Given the description of an element on the screen output the (x, y) to click on. 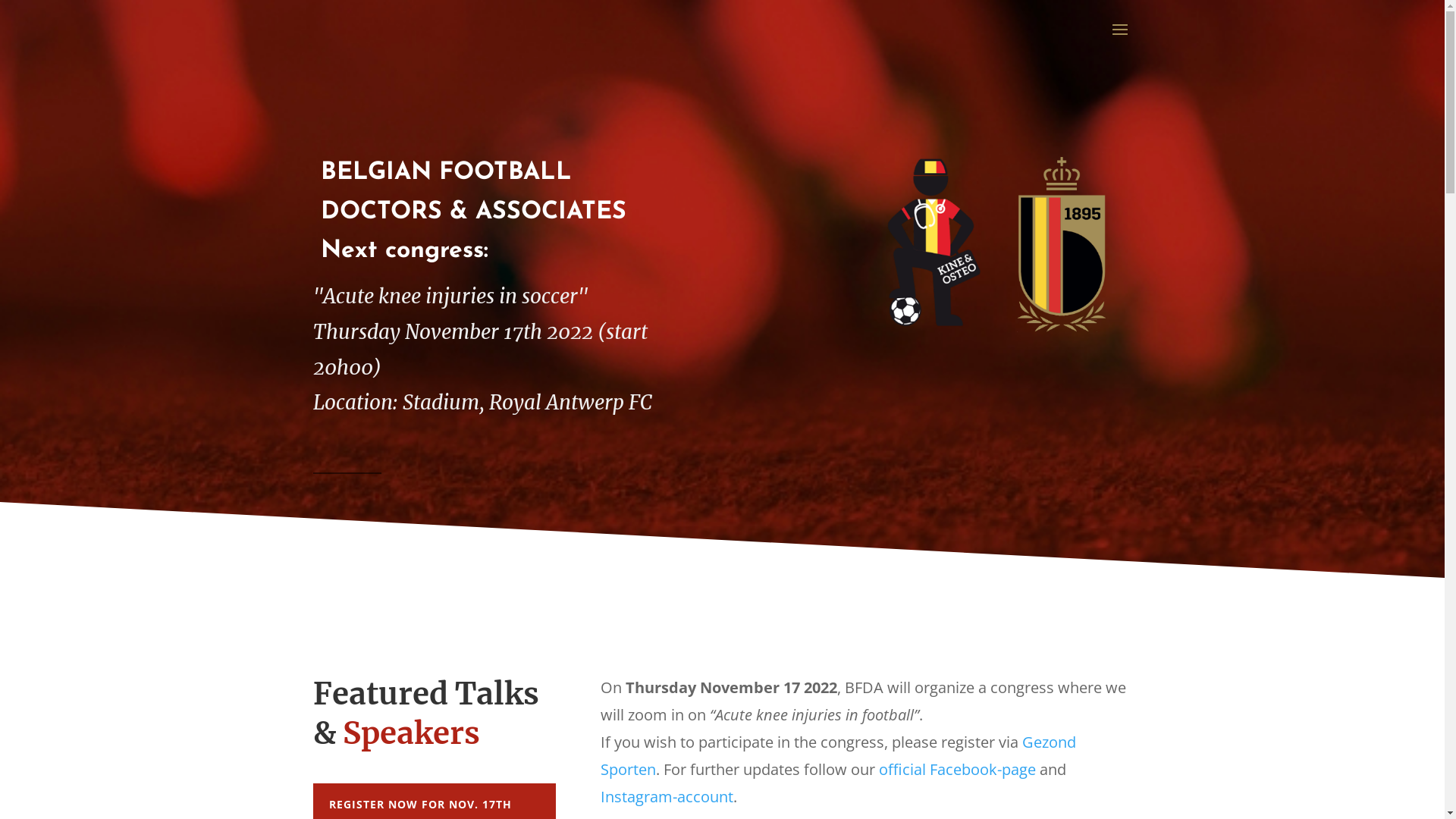
Instagram-account Element type: text (666, 796)
official Facebook-page Element type: text (956, 769)
Gezond Sporten Element type: text (838, 755)
